Given the description of an element on the screen output the (x, y) to click on. 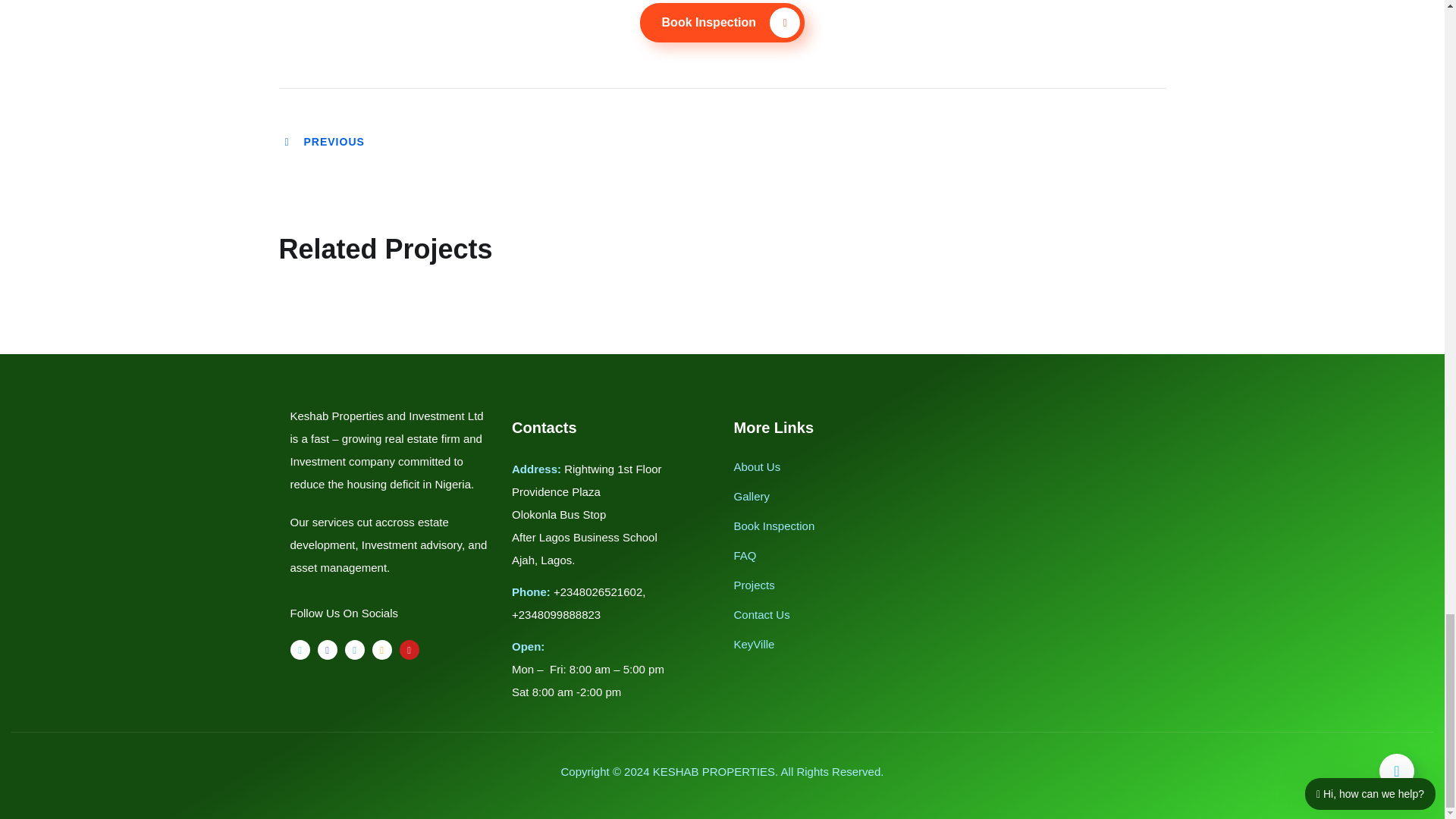
Book Inspection (722, 22)
PREVIOUS (323, 141)
